Given the description of an element on the screen output the (x, y) to click on. 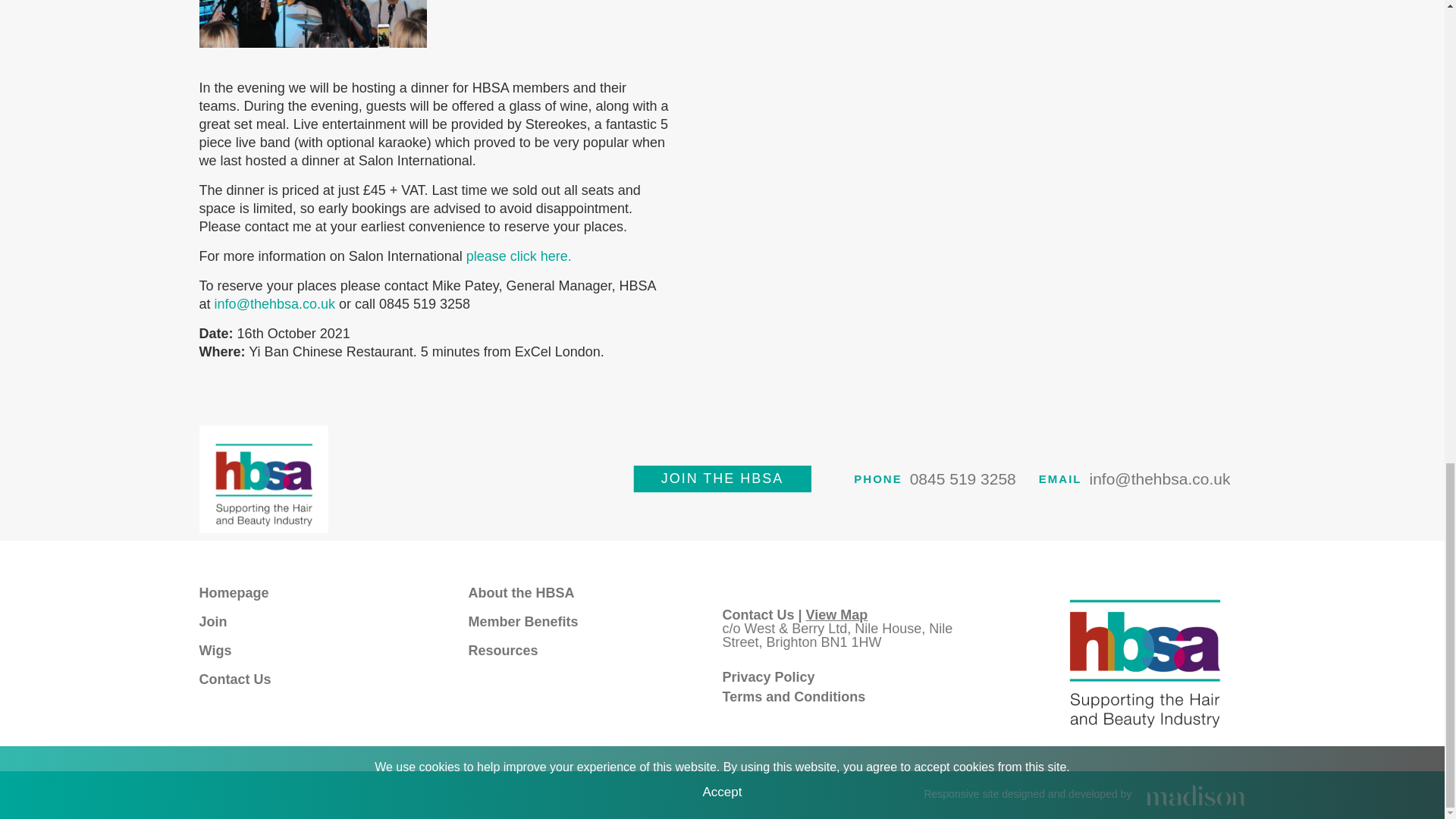
Join (213, 620)
Resources (503, 649)
Wigs (215, 649)
please click here. (518, 256)
Contact Us (234, 678)
Member Benefits (523, 620)
0845 519 3258 (963, 479)
JOIN THE HBSA (721, 479)
Homepage (234, 591)
About the HBSA (521, 591)
